Given the description of an element on the screen output the (x, y) to click on. 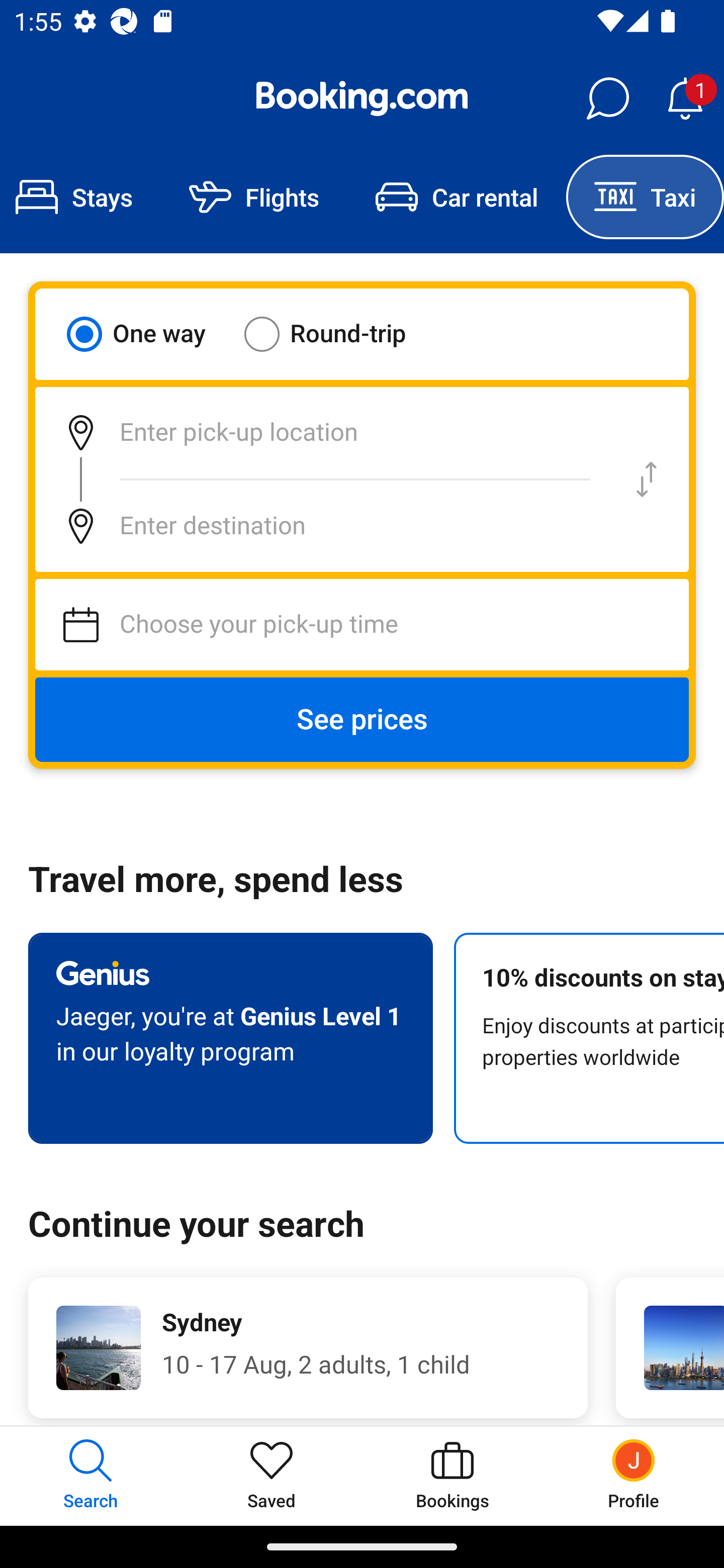
Messages (607, 98)
Notifications (685, 98)
Stays (80, 197)
Flights (253, 197)
Car rental (456, 197)
Taxi (645, 197)
Round-trip (337, 333)
Enter pick-up location (319, 432)
Swap pick-up location and destination (646, 479)
Enter destination (319, 525)
Choose your pick-up time (361, 624)
See prices (361, 719)
Sydney 10 - 17 Aug, 2 adults, 1 child (307, 1347)
Saved (271, 1475)
Bookings (452, 1475)
Profile (633, 1475)
